Given the description of an element on the screen output the (x, y) to click on. 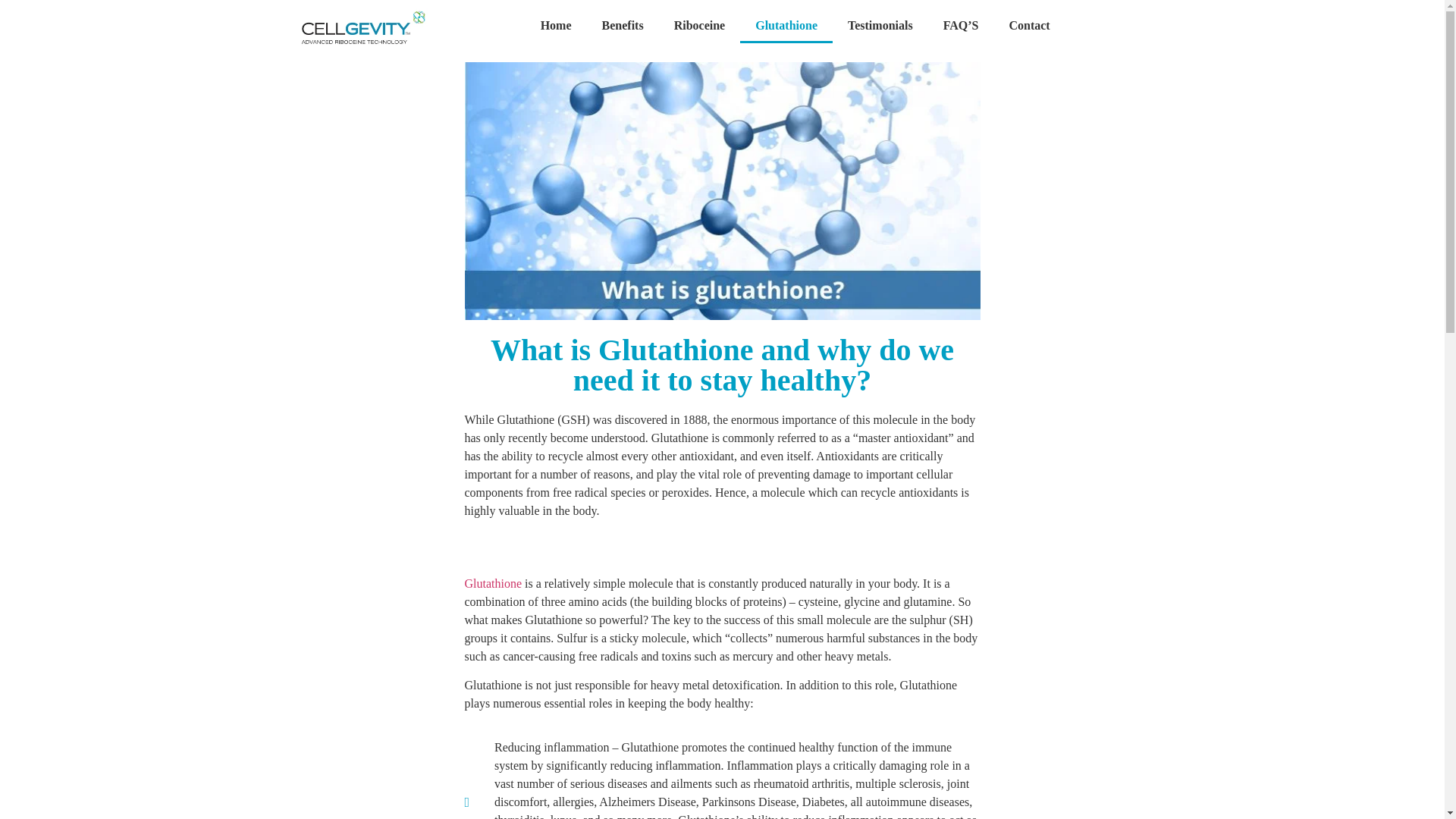
Home (555, 25)
Riboceine (700, 25)
Testimonials (880, 25)
Glutathione (785, 25)
Benefits (622, 25)
Glutathione (492, 583)
Contact (1028, 25)
